Given the description of an element on the screen output the (x, y) to click on. 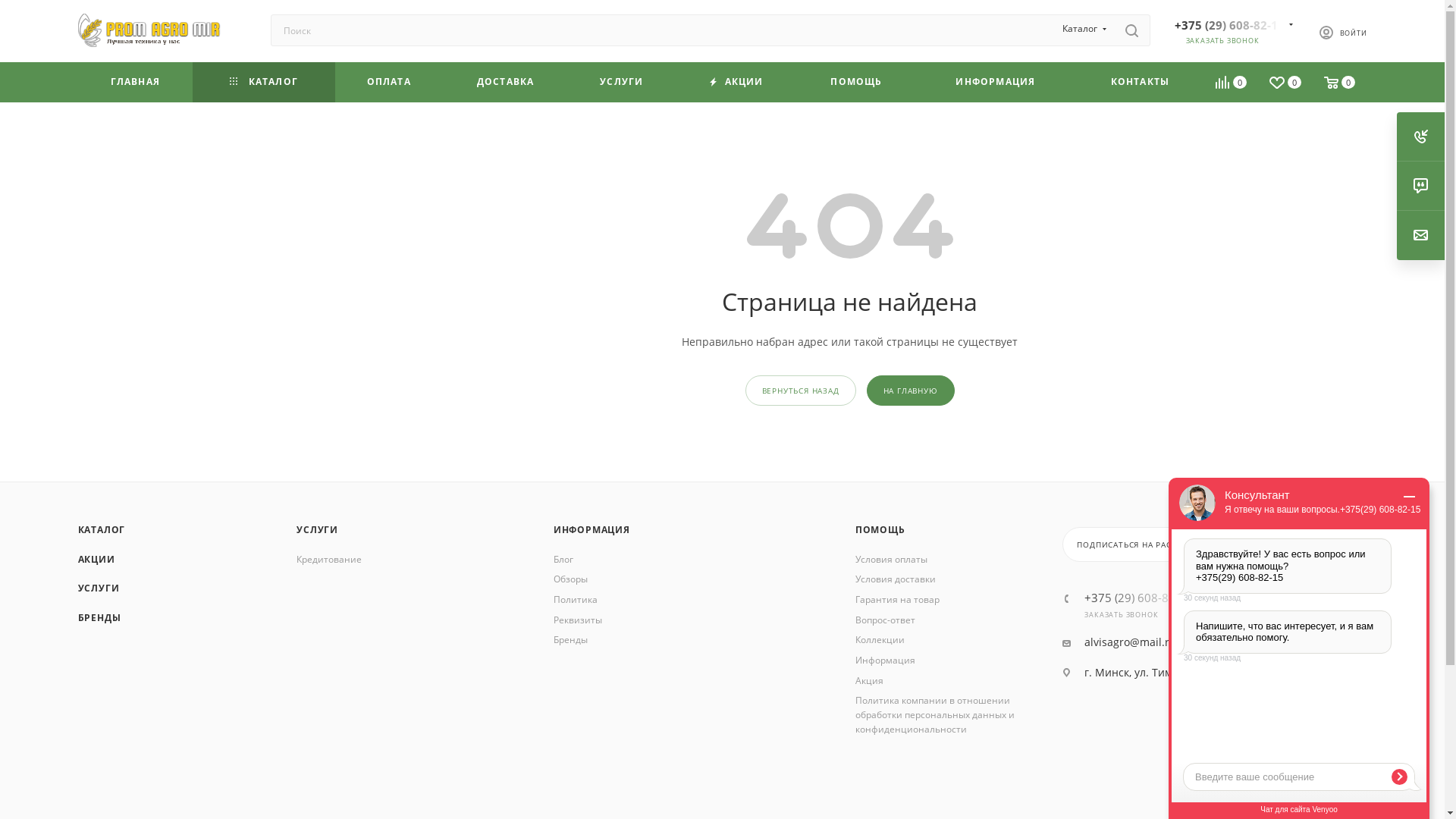
0 Element type: text (1285, 83)
0 Element type: text (1340, 83)
+375 (29) 608-82-1 Element type: text (1138, 597)
0 Element type: text (1231, 84)
+375 (29) 608-82-1 Element type: text (1228, 24)
alvisagro@mail.ru Element type: text (1130, 642)
